Given the description of an element on the screen output the (x, y) to click on. 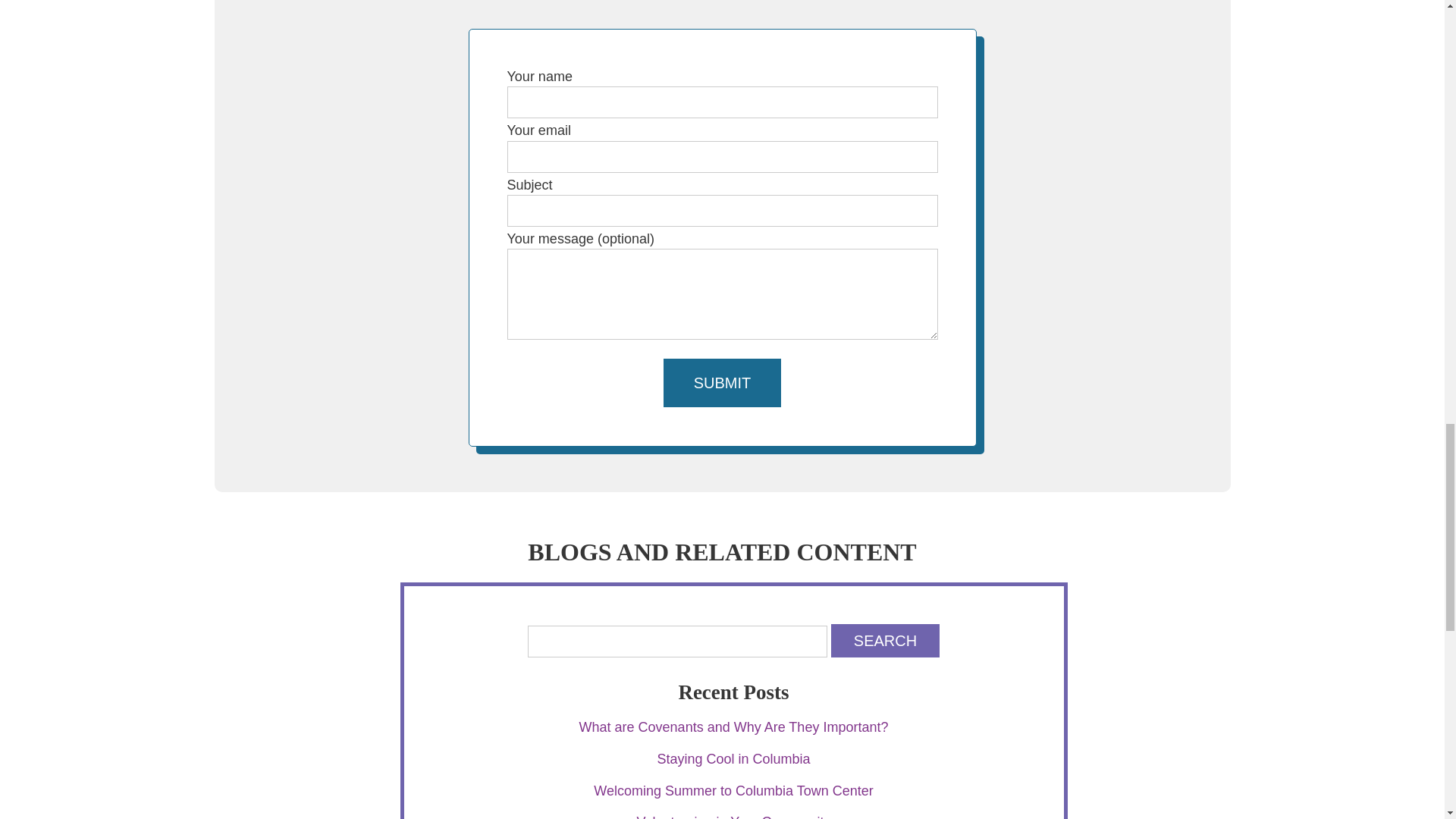
Submit (722, 382)
Search (885, 639)
